Given the description of an element on the screen output the (x, y) to click on. 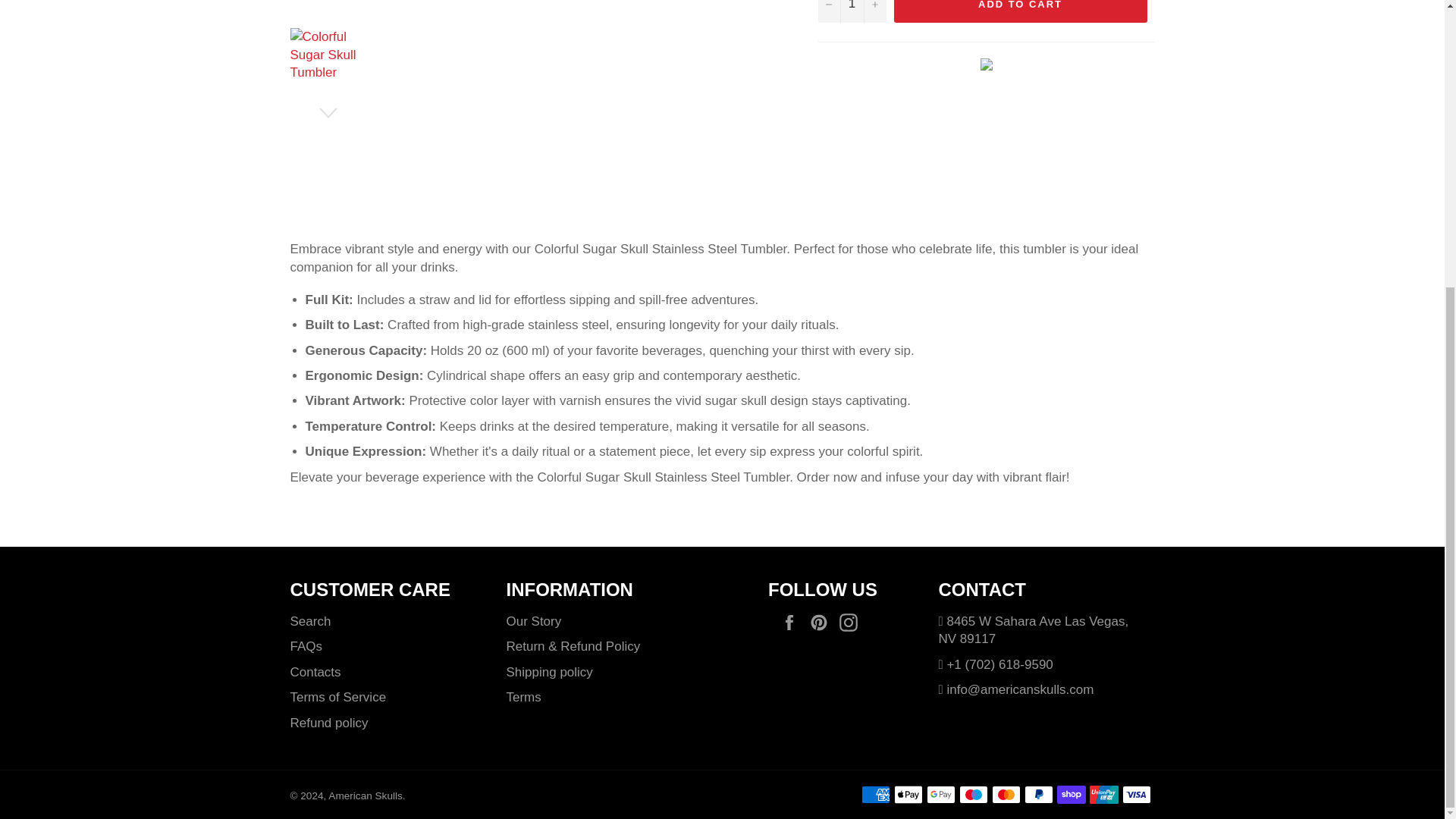
American Skulls on Pinterest (822, 621)
American Skulls on Facebook (793, 621)
American Skulls on Instagram (852, 621)
1 (850, 11)
